Given the description of an element on the screen output the (x, y) to click on. 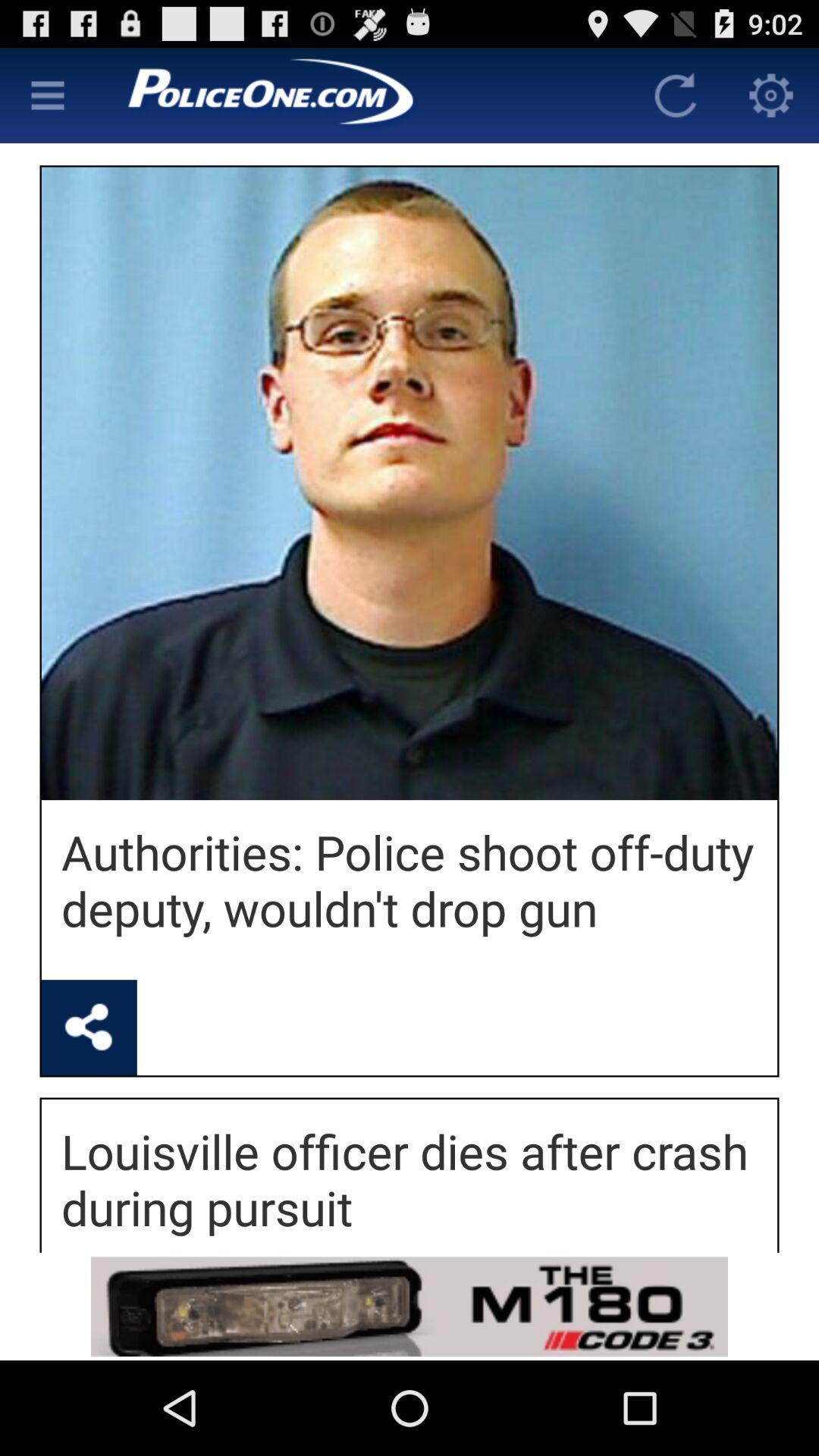
home page (361, 95)
